Given the description of an element on the screen output the (x, y) to click on. 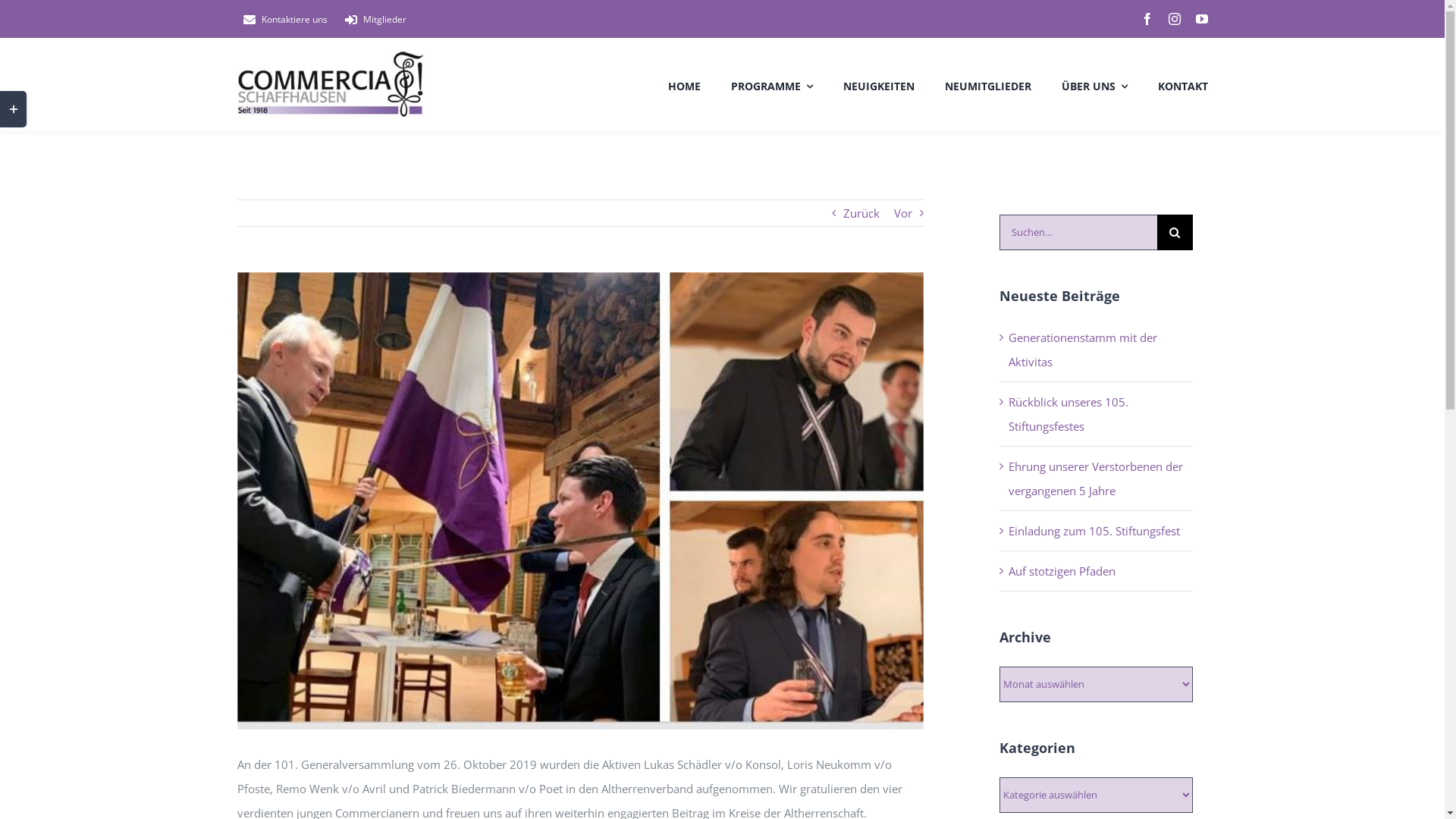
HOME Element type: text (683, 83)
Vor Element type: text (903, 212)
Einladung zum 105. Stiftungsfest Element type: text (1093, 530)
Toggle Sliding Bar Area Element type: text (13, 109)
Ehrung unserer Verstorbenen der vergangenen 5 Jahre Element type: text (1095, 478)
NEUIGKEITEN Element type: text (878, 83)
NEUMITGLIEDER Element type: text (987, 83)
PROGRAMME Element type: text (771, 83)
KONTAKT Element type: text (1182, 83)
Auf stotzigen Pfaden Element type: text (1061, 570)
Generationenstamm mit der Aktivitas Element type: text (1082, 349)
Mitglieder Element type: text (371, 19)
Kontaktiere uns Element type: text (281, 19)
